Given the description of an element on the screen output the (x, y) to click on. 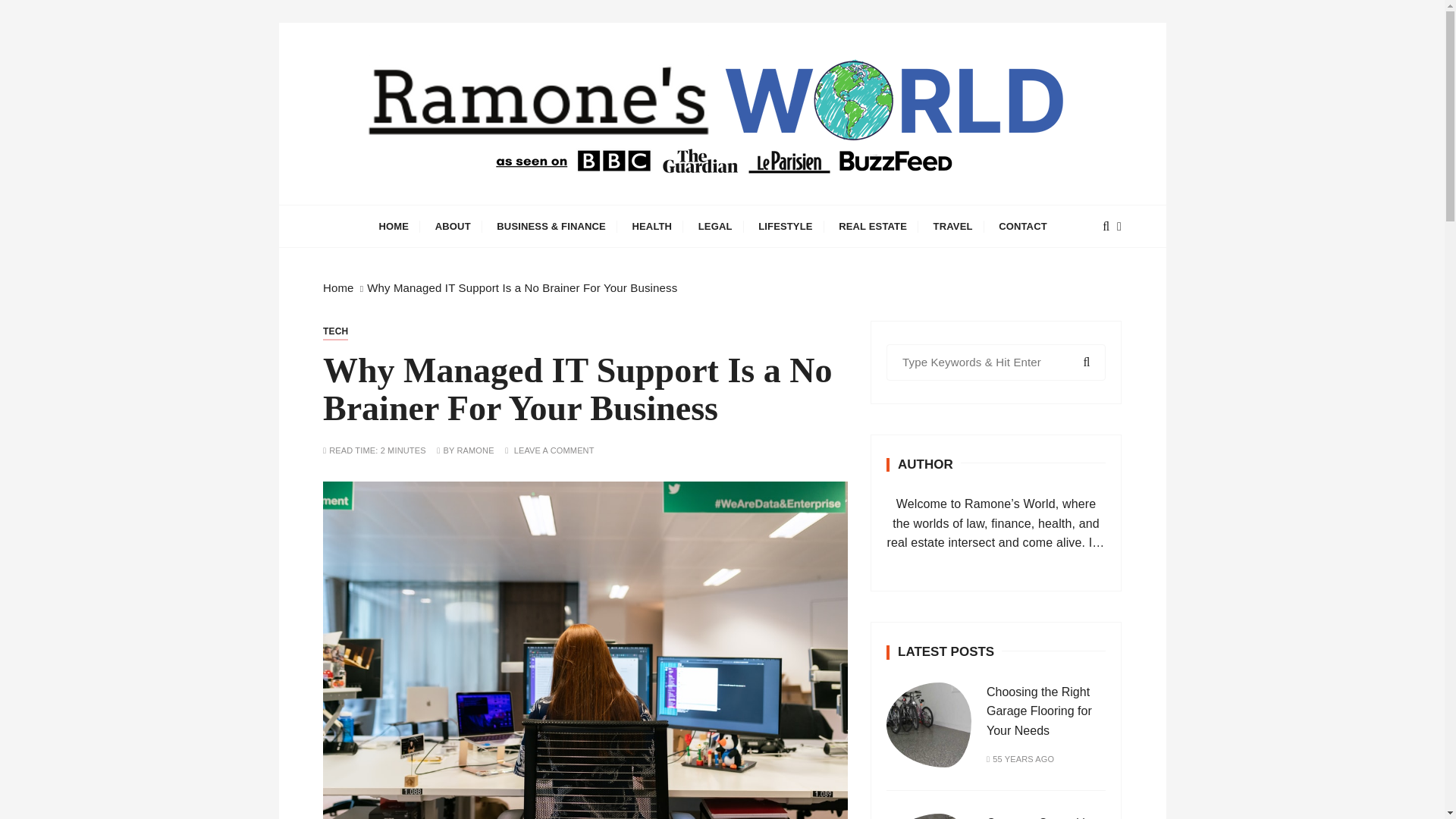
LEGAL (715, 226)
CONTACT (1022, 226)
RAMONE (475, 450)
Why Managed IT Support Is a No Brainer For Your Business (521, 287)
HOME (394, 226)
REAL ESTATE (872, 226)
TRAVEL (952, 226)
ABOUT (452, 226)
LEAVE A COMMENT (553, 450)
HEALTH (651, 226)
LIFESTYLE (785, 226)
TECH (335, 331)
Choosing the Right Garage Flooring for Your Needs (1039, 711)
Home (338, 287)
